Given the description of an element on the screen output the (x, y) to click on. 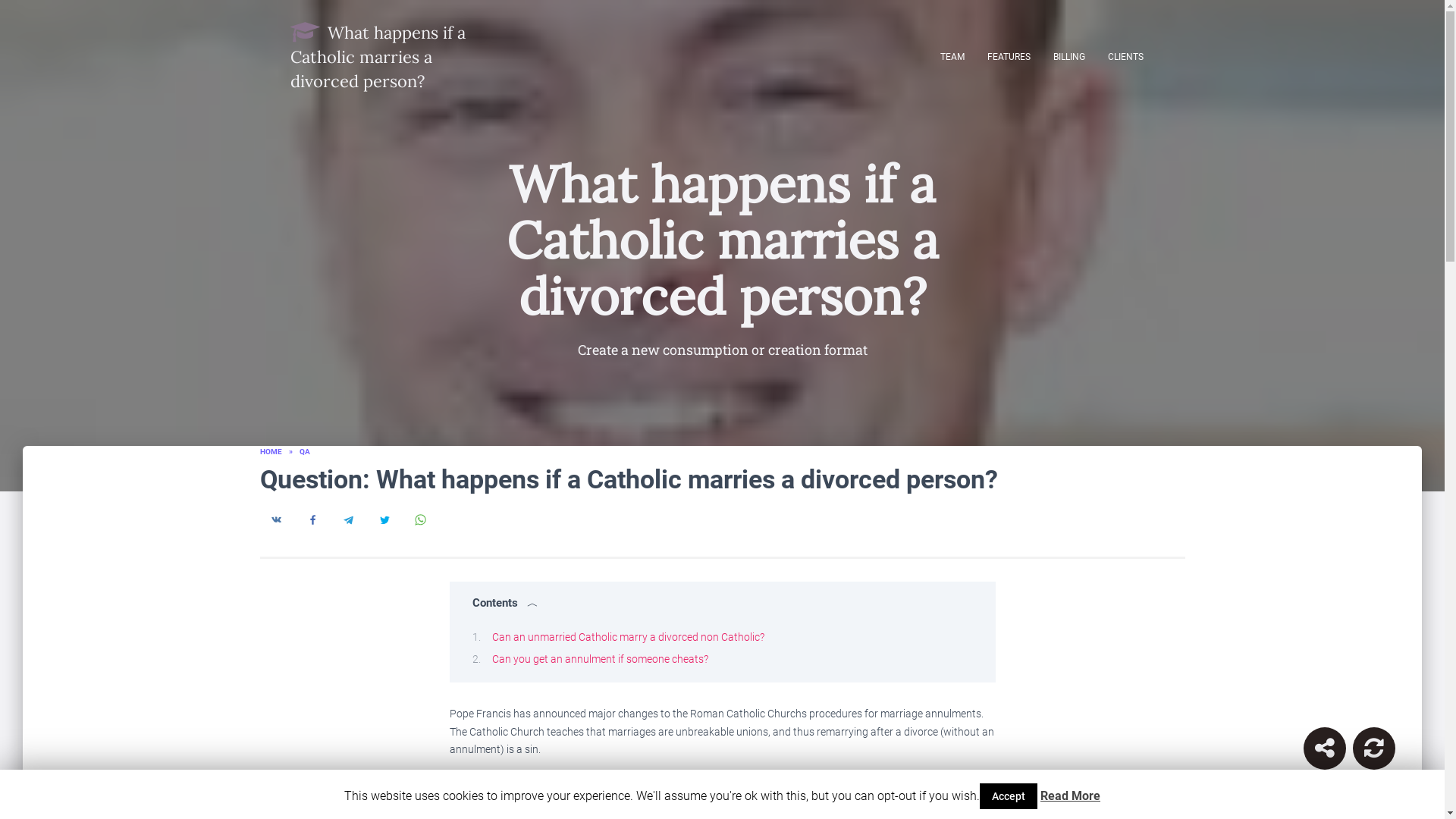
Read More (1070, 795)
Team (951, 56)
Accept (1007, 795)
Can an unmarried Catholic marry a divorced non Catholic? (627, 636)
TEAM (951, 56)
FEATURES (1008, 56)
What happens if a Catholic marries a divorced person? (379, 56)
CLIENTS (1125, 56)
Clients (1125, 56)
Can you get an annulment if someone cheats? (599, 658)
What happens if a Catholic marries a divorced person? (379, 56)
Share Startup (1324, 748)
Billing (1069, 56)
Features (1008, 56)
HOME (270, 451)
